Given the description of an element on the screen output the (x, y) to click on. 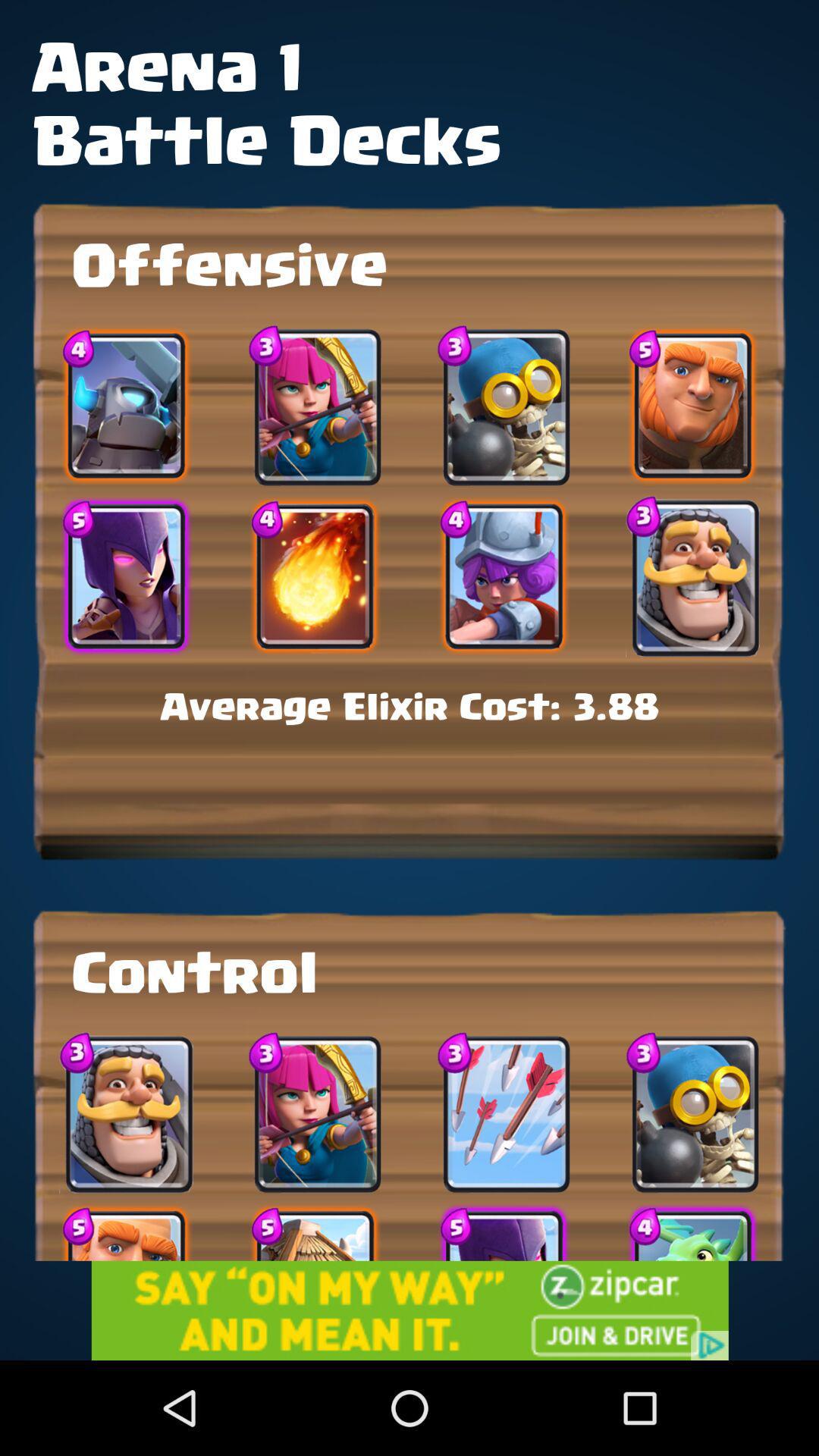
advertisement button for zipcar (409, 1310)
